Given the description of an element on the screen output the (x, y) to click on. 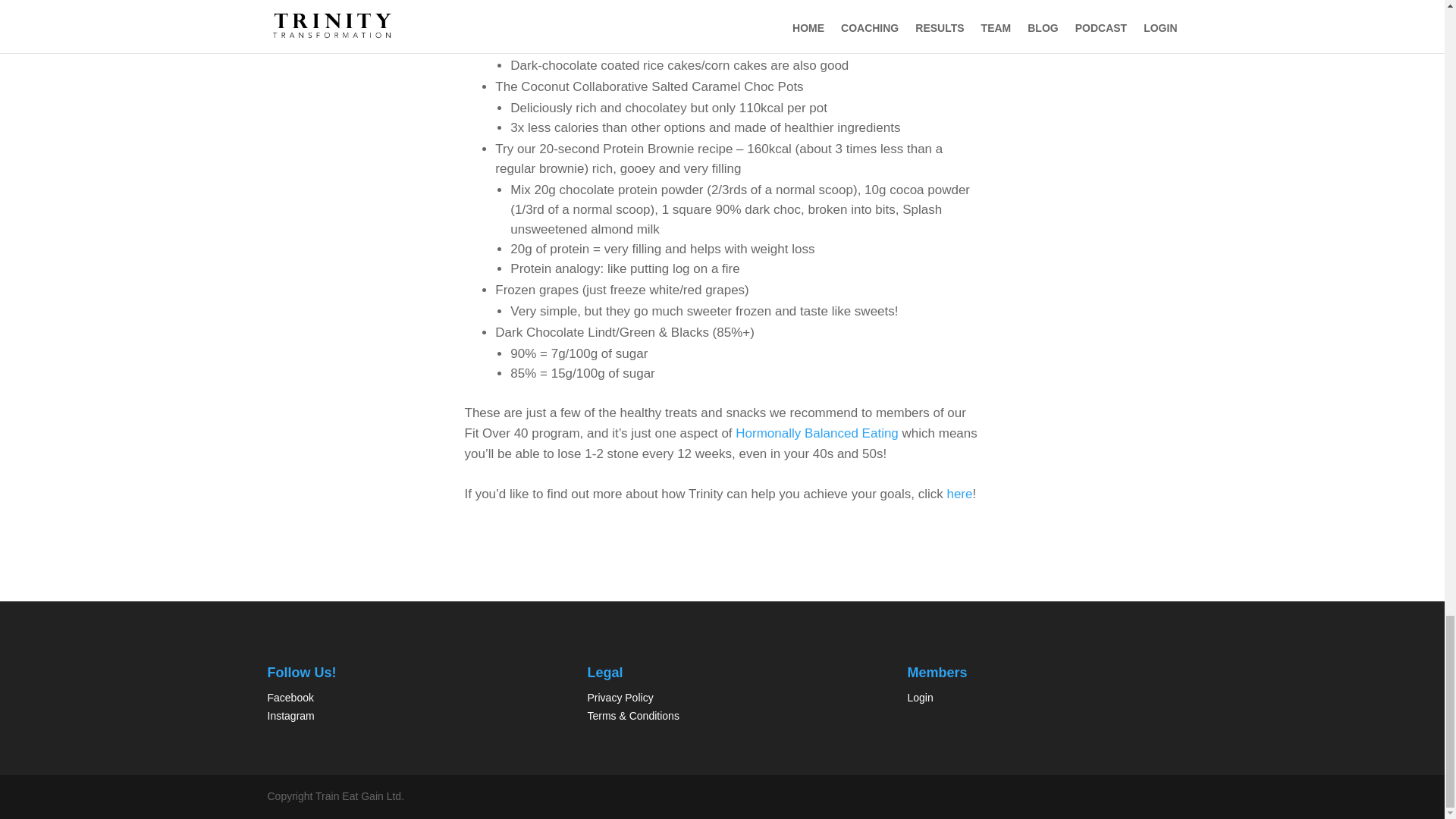
Hormonally Balanced Eating (816, 432)
here (959, 493)
